Given the description of an element on the screen output the (x, y) to click on. 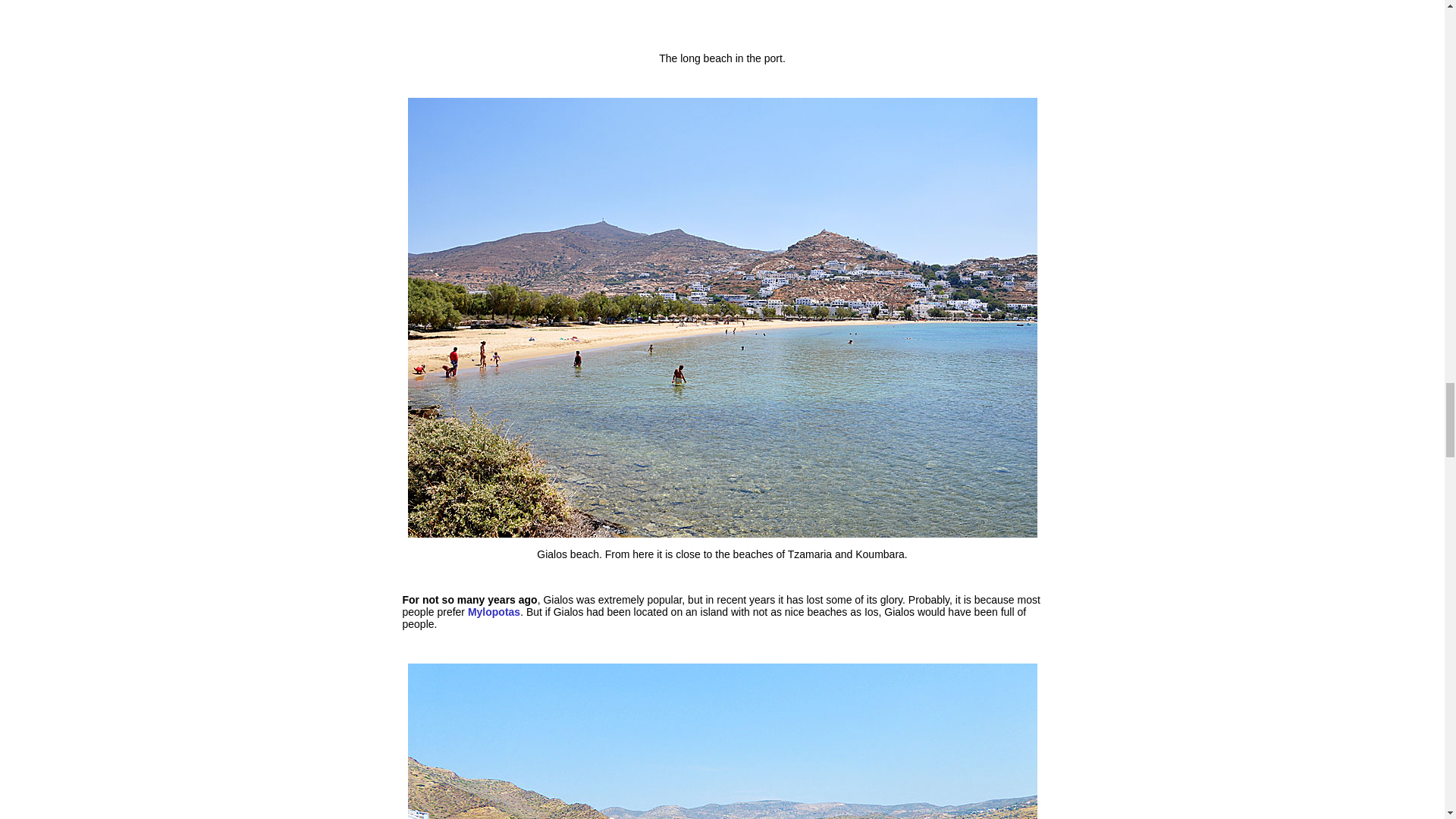
Mylopotas (493, 612)
